Given the description of an element on the screen output the (x, y) to click on. 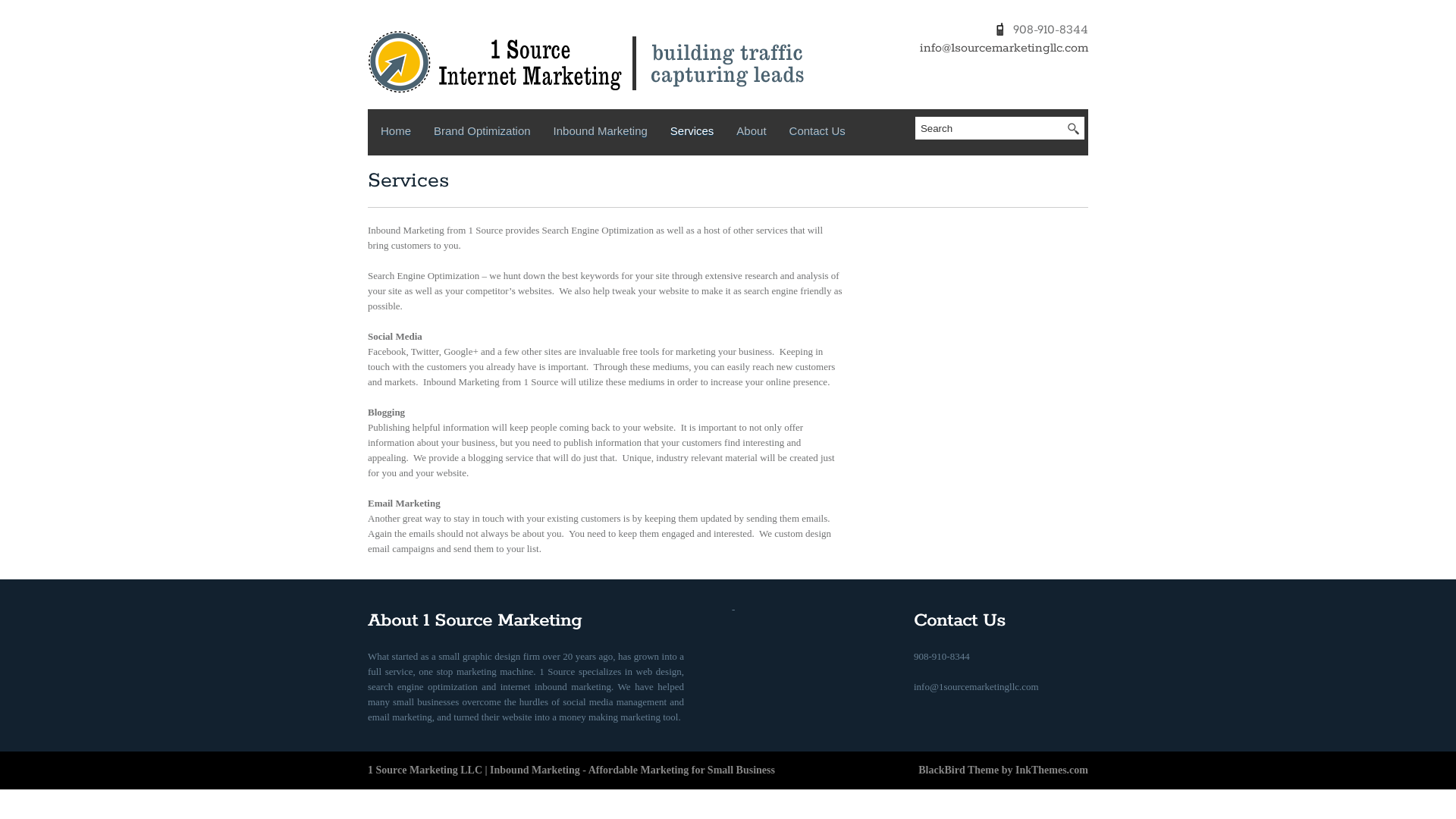
Advertisement Element type: hover (940, 294)
Brand Optimization Element type: text (482, 133)
Contact Us Element type: text (817, 133)
Services Element type: text (691, 133)
info@1sourcemarketingllc.com Element type: text (1003, 48)
Advertisement Element type: hover (940, 408)
About Element type: text (750, 133)
Inbound Marketing Element type: text (600, 133)
info@1sourcemarketingllc.com Element type: text (975, 693)
BlackBird Theme by InkThemes.com Element type: text (1003, 769)
Home Element type: text (395, 133)
